Given the description of an element on the screen output the (x, y) to click on. 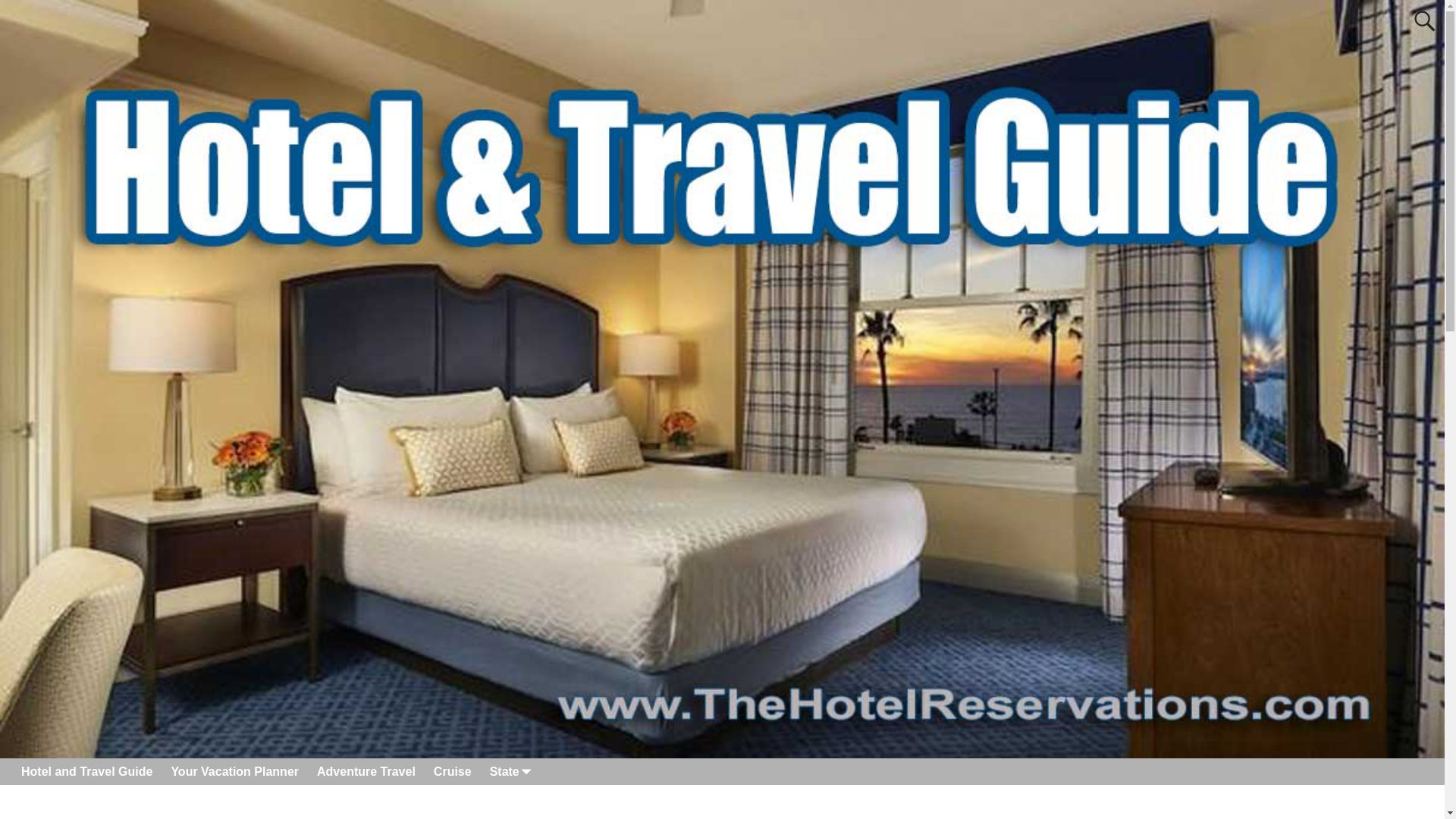
Your Vacation Planner (234, 771)
State (508, 771)
Adventure Travel (366, 771)
Hotel and Travel Guide (86, 771)
Cruise (452, 771)
